Given the description of an element on the screen output the (x, y) to click on. 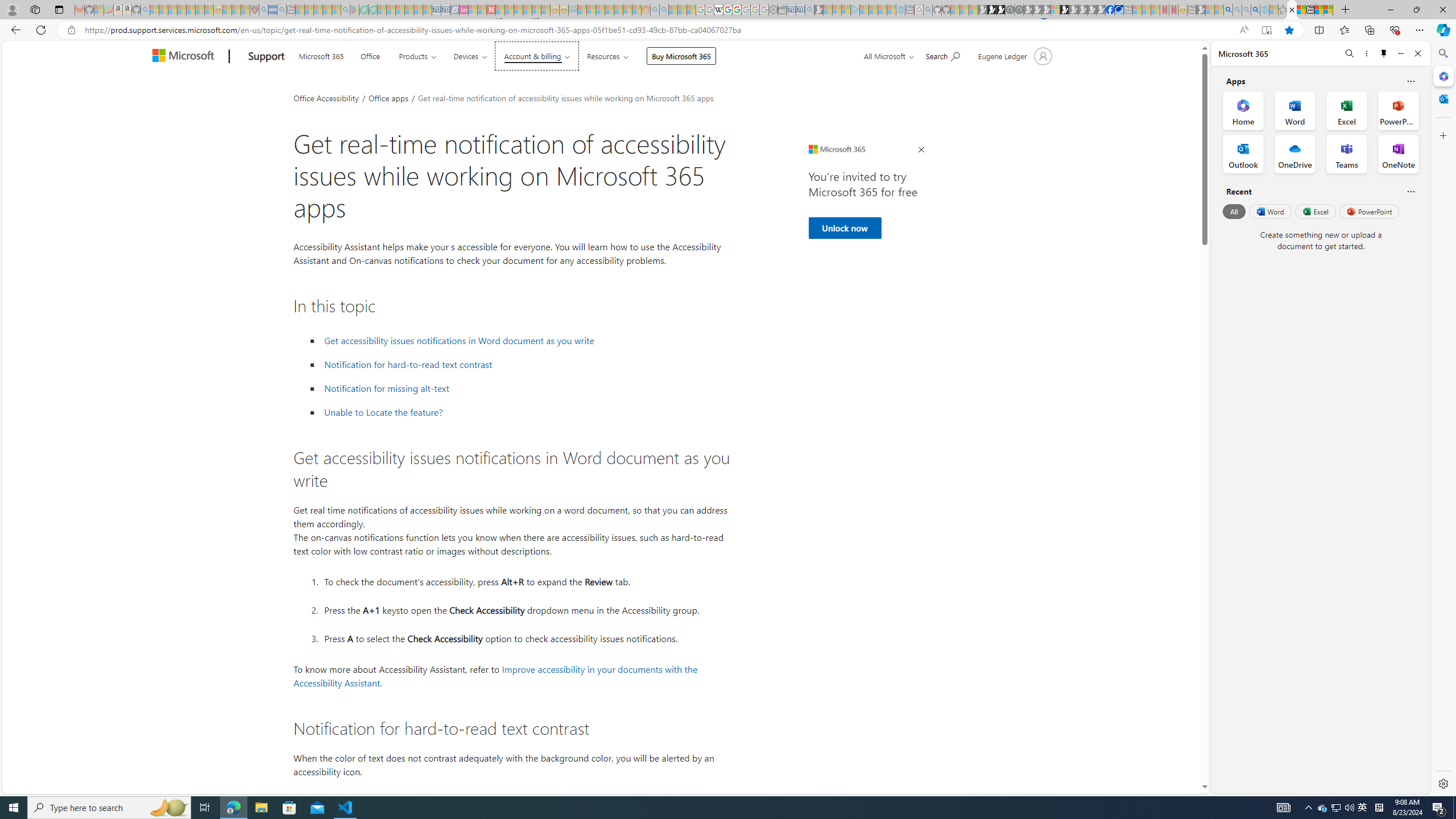
Microsoft (184, 56)
